Given the description of an element on the screen output the (x, y) to click on. 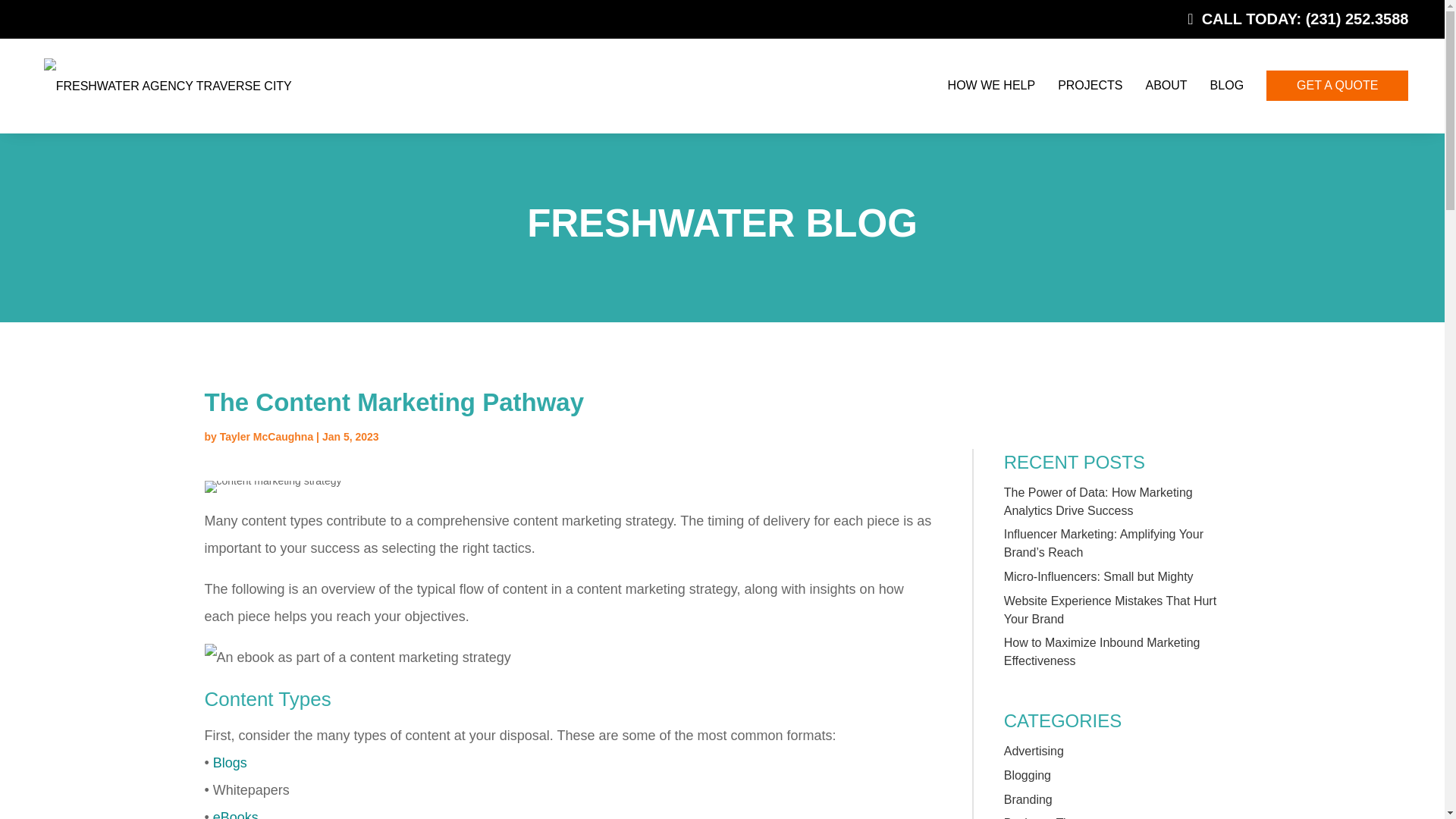
pexels-peter-c-360438 (273, 486)
Posts by Tayler McCaughna (266, 436)
eBooks (235, 814)
HOW WE HELP (991, 85)
Tayler McCaughna (266, 436)
Blogs (229, 762)
GET A QUOTE (1336, 84)
The Power of Data: How Marketing Analytics Drive Success (1098, 501)
ABOUT (1165, 85)
PROJECTS (1089, 85)
